Given the description of an element on the screen output the (x, y) to click on. 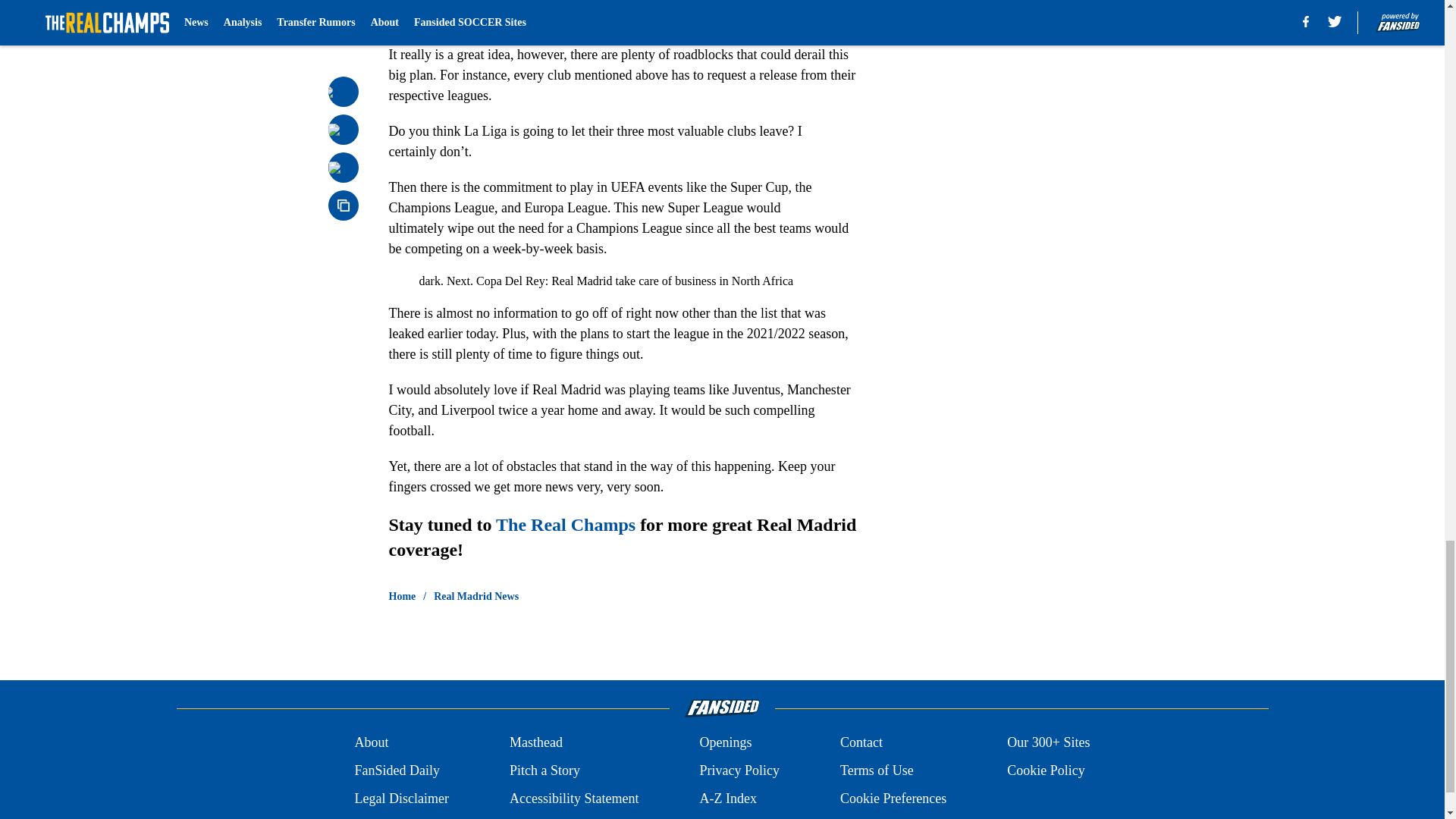
Openings (724, 742)
Cookie Policy (1045, 770)
About (370, 742)
FanSided Daily (396, 770)
Home (401, 596)
Privacy Policy (738, 770)
Cookie Preferences (893, 798)
Legal Disclaimer (400, 798)
Real Madrid News (475, 596)
Masthead (535, 742)
A-Z Index (726, 798)
Contact (861, 742)
Terms of Use (877, 770)
Pitch a Story (544, 770)
Accessibility Statement (574, 798)
